Given the description of an element on the screen output the (x, y) to click on. 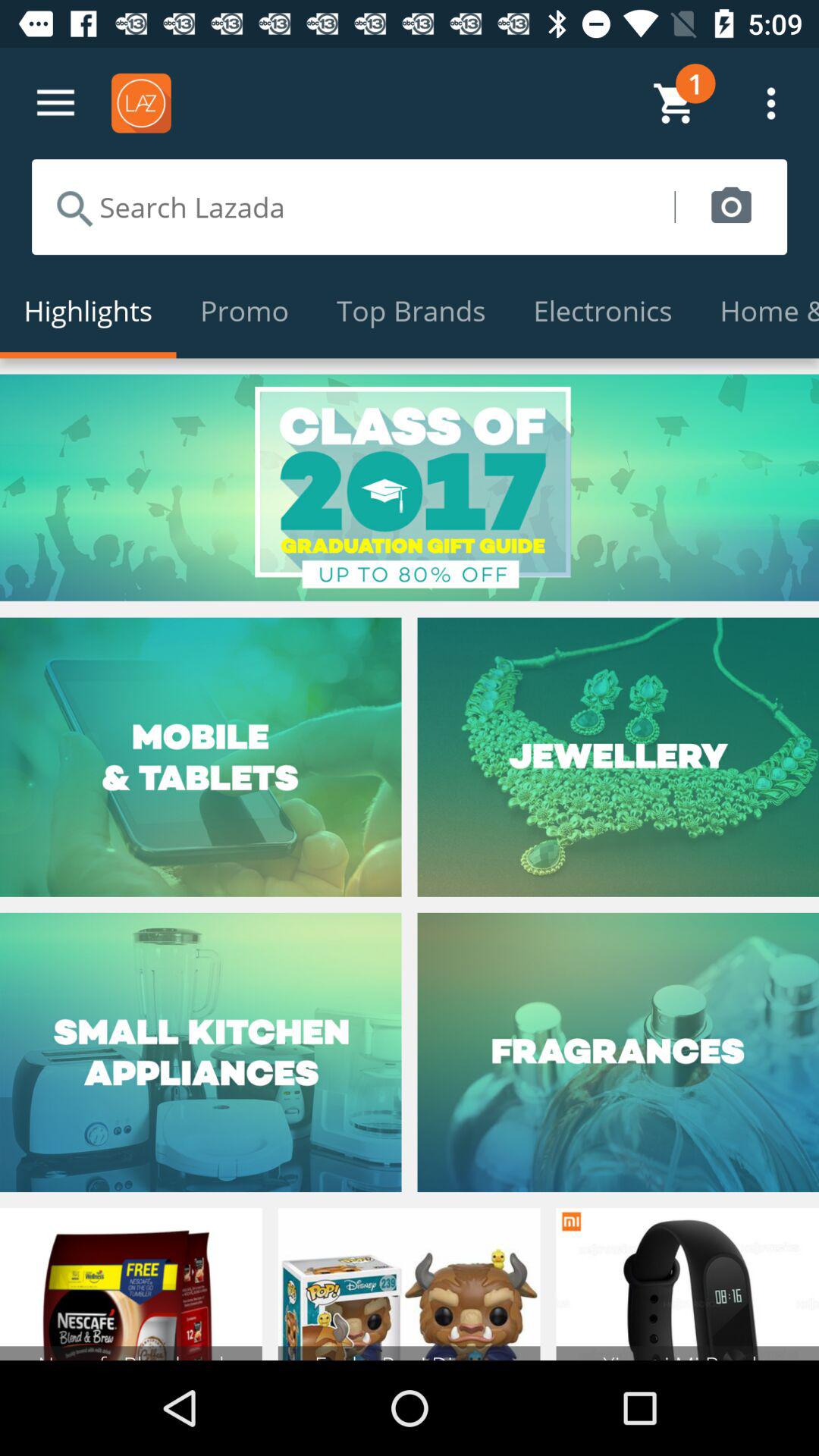
more options (55, 103)
